Given the description of an element on the screen output the (x, y) to click on. 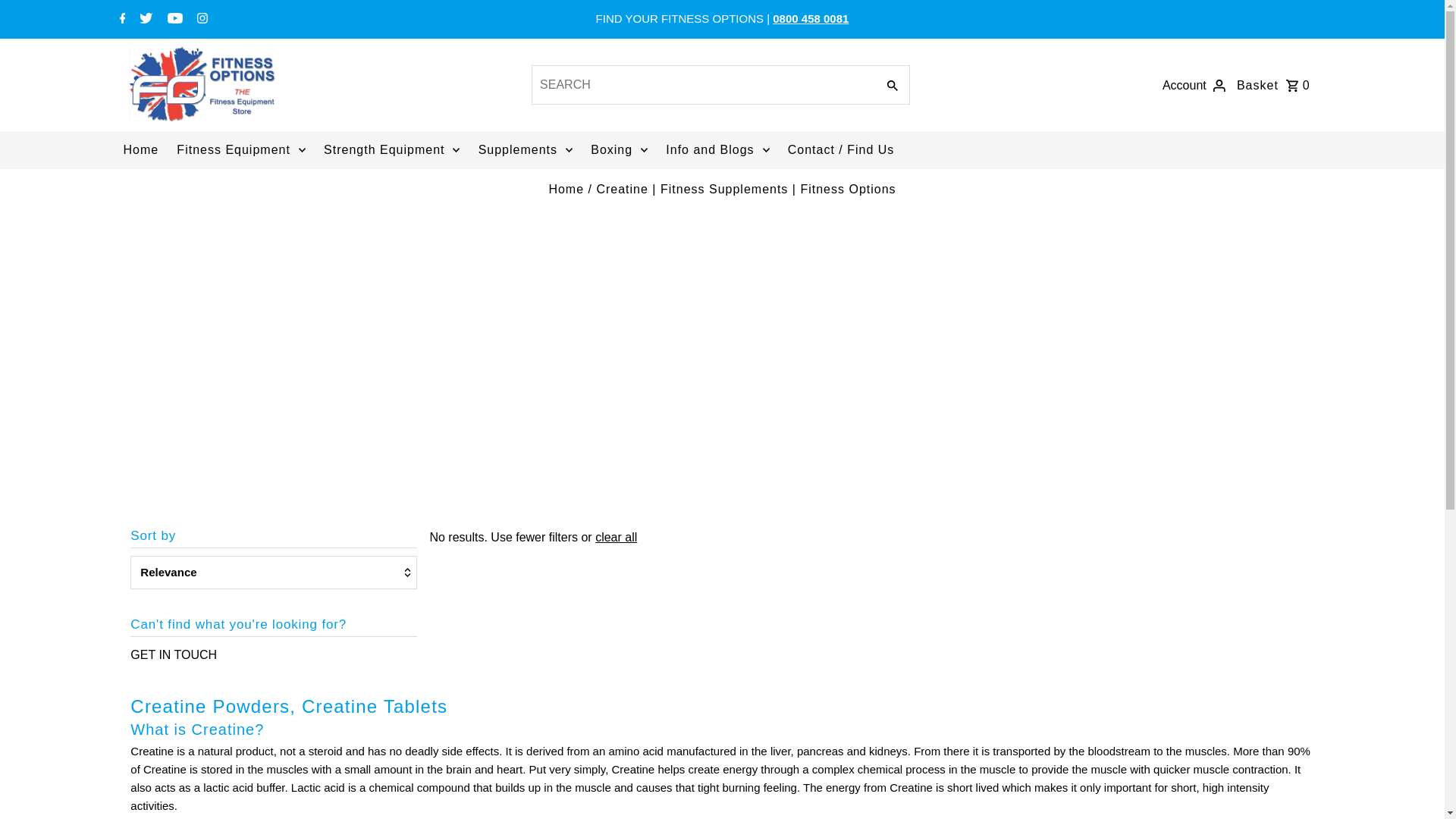
Fitness Equipment (240, 149)
Home (140, 149)
Home (565, 188)
0800 458 0081 (810, 18)
